Given the description of an element on the screen output the (x, y) to click on. 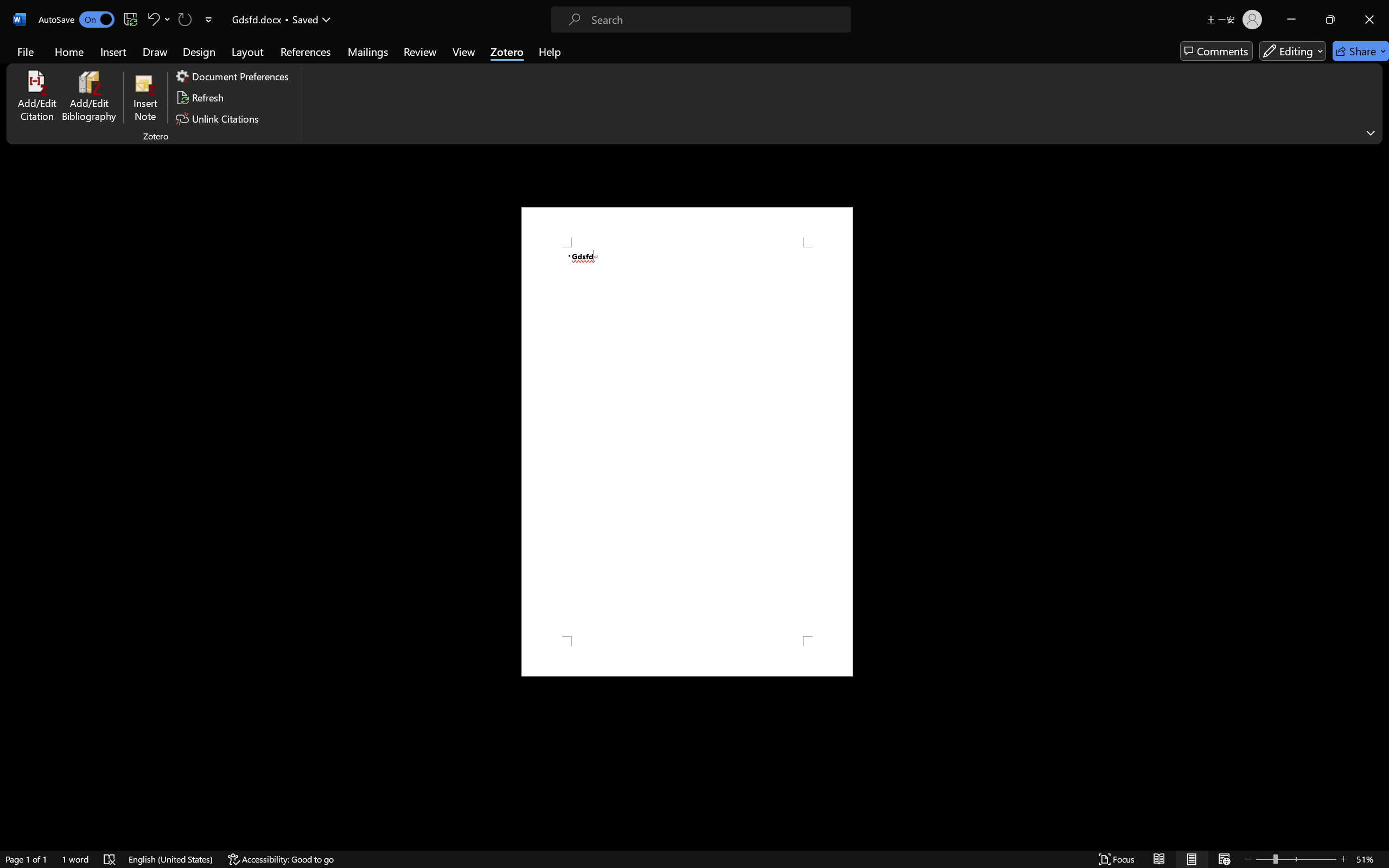
TextBox 61 (795, 413)
